Given the description of an element on the screen output the (x, y) to click on. 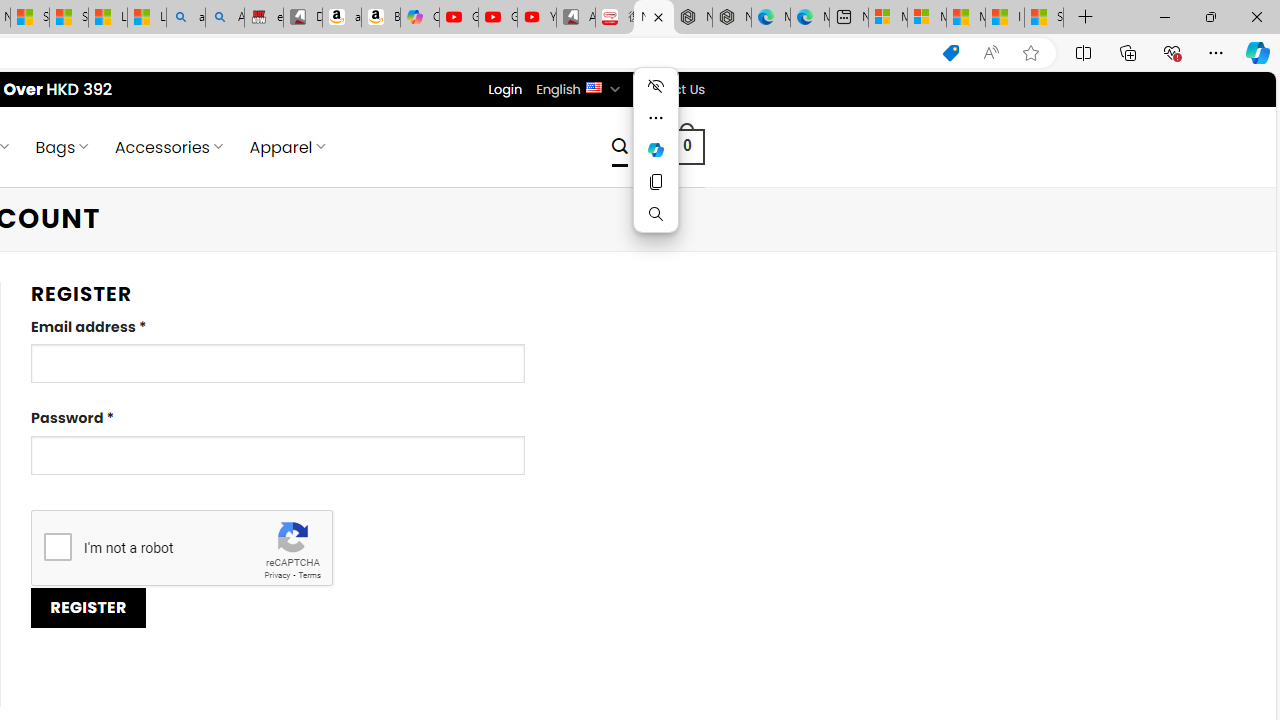
Collections (1128, 52)
Close tab (658, 16)
Copilot (Ctrl+Shift+.) (1258, 52)
amazon.in/dp/B0CX59H5W7/?tag=gsmcom05-21 (341, 17)
Ask Copilot (655, 149)
Privacy (276, 575)
REGISTER (88, 607)
Search (655, 213)
I'm not a robot (57, 546)
Read aloud this page (Ctrl+Shift+U) (991, 53)
YouTube Kids - An App Created for Kids to Explore Content (536, 17)
